Given the description of an element on the screen output the (x, y) to click on. 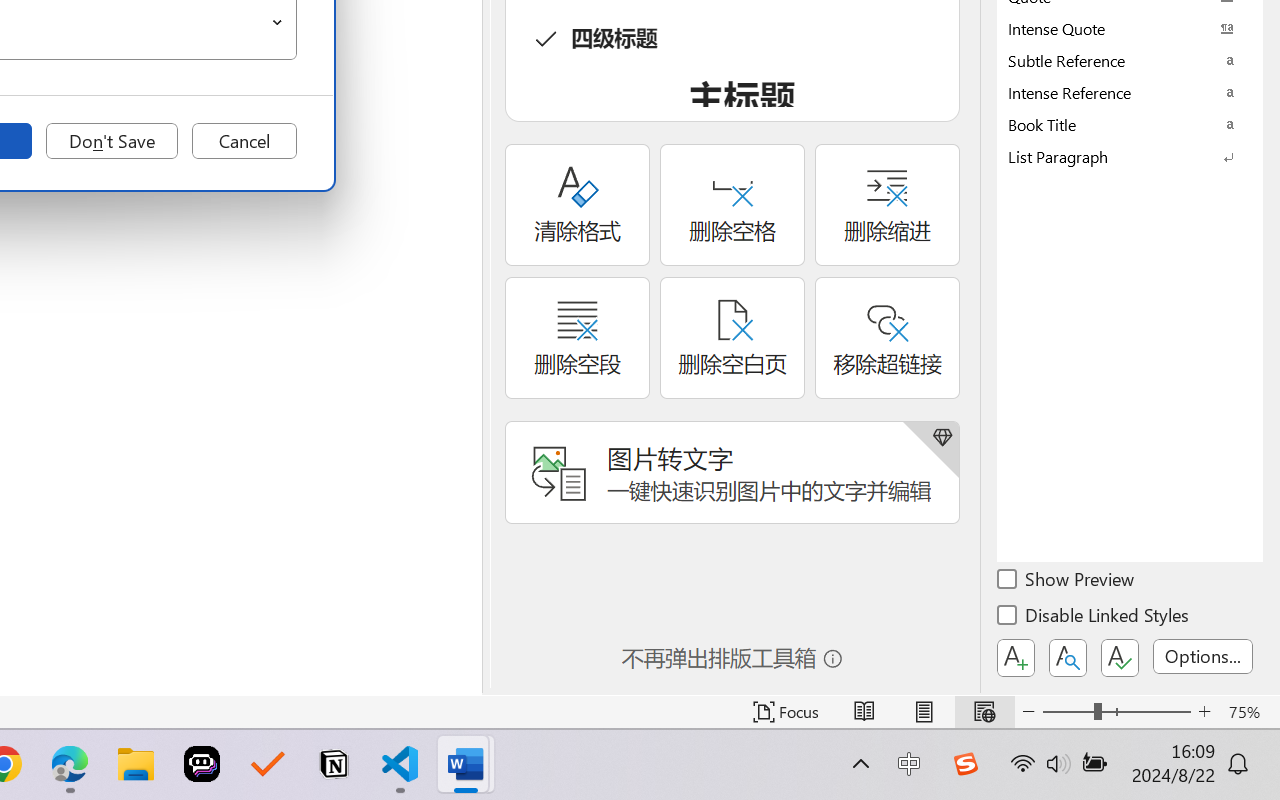
Book Title (1130, 124)
Focus  (786, 712)
Zoom In (1204, 712)
